Given the description of an element on the screen output the (x, y) to click on. 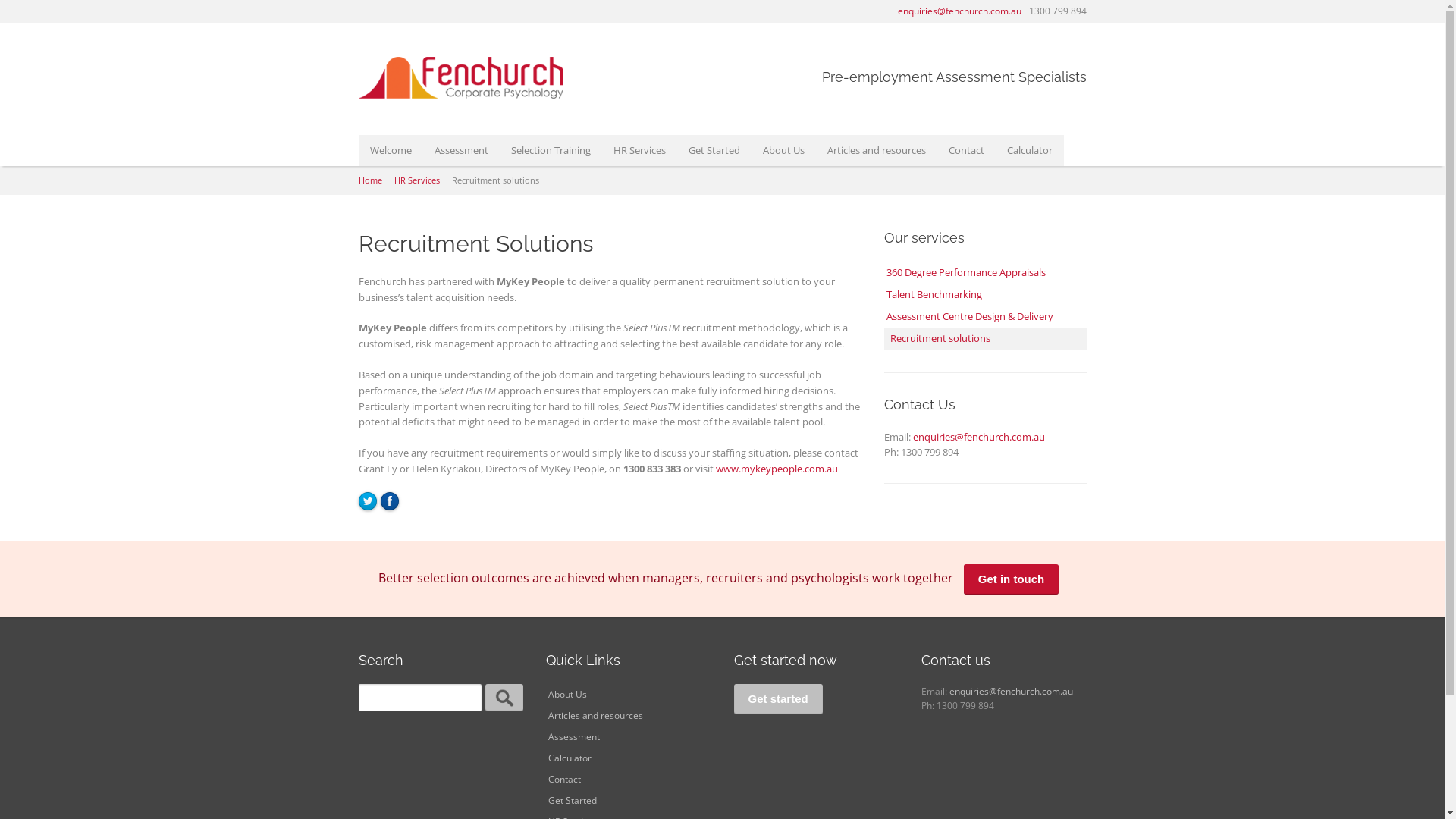
Articles and resources Element type: text (628, 715)
enquiries@fenchurch.com.au Element type: text (1011, 690)
Contact Element type: text (966, 150)
Get Started Element type: text (628, 800)
Selection Training Element type: text (549, 150)
Assessment Element type: text (461, 150)
Get Started Element type: text (713, 150)
Calculator Element type: text (1028, 150)
About Us Element type: text (782, 150)
HR Services Element type: text (639, 150)
About Us Element type: text (628, 694)
Get in touch Element type: text (1011, 579)
Talent Benchmarking Element type: text (985, 294)
Welcome Element type: text (389, 150)
360 Degree Performance Appraisals Element type: text (985, 272)
enquiries@fenchurch.com.au Element type: text (978, 436)
HR Services Element type: text (416, 179)
Home Element type: text (369, 179)
Articles and resources Element type: text (876, 150)
enquiries@fenchurch.com.au Element type: text (959, 10)
Assessment Centre Design & Delivery Element type: text (985, 316)
Assessment Element type: text (628, 736)
www.mykeypeople.com.au Element type: text (776, 468)
Contact Element type: text (628, 779)
Get started Element type: text (778, 699)
Calculator Element type: text (628, 757)
Recruitment solutions Element type: text (985, 338)
